Given the description of an element on the screen output the (x, y) to click on. 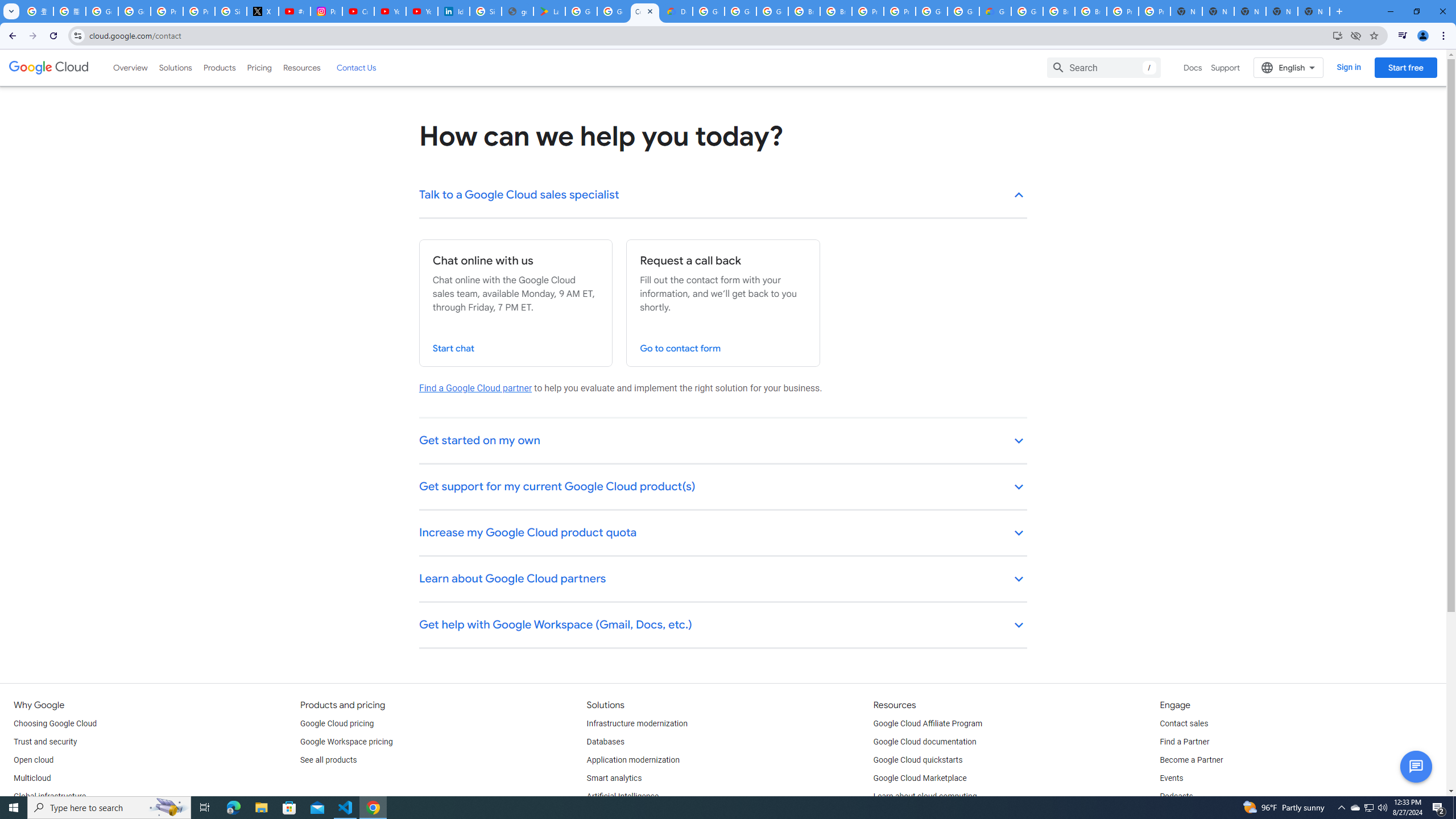
Start free (1405, 67)
Google Cloud Estimate Summary (995, 11)
Get started on my own keyboard_arrow_down (723, 441)
Google Cloud Platform (1027, 11)
Google Cloud documentation (924, 742)
English (1288, 67)
